Given the description of an element on the screen output the (x, y) to click on. 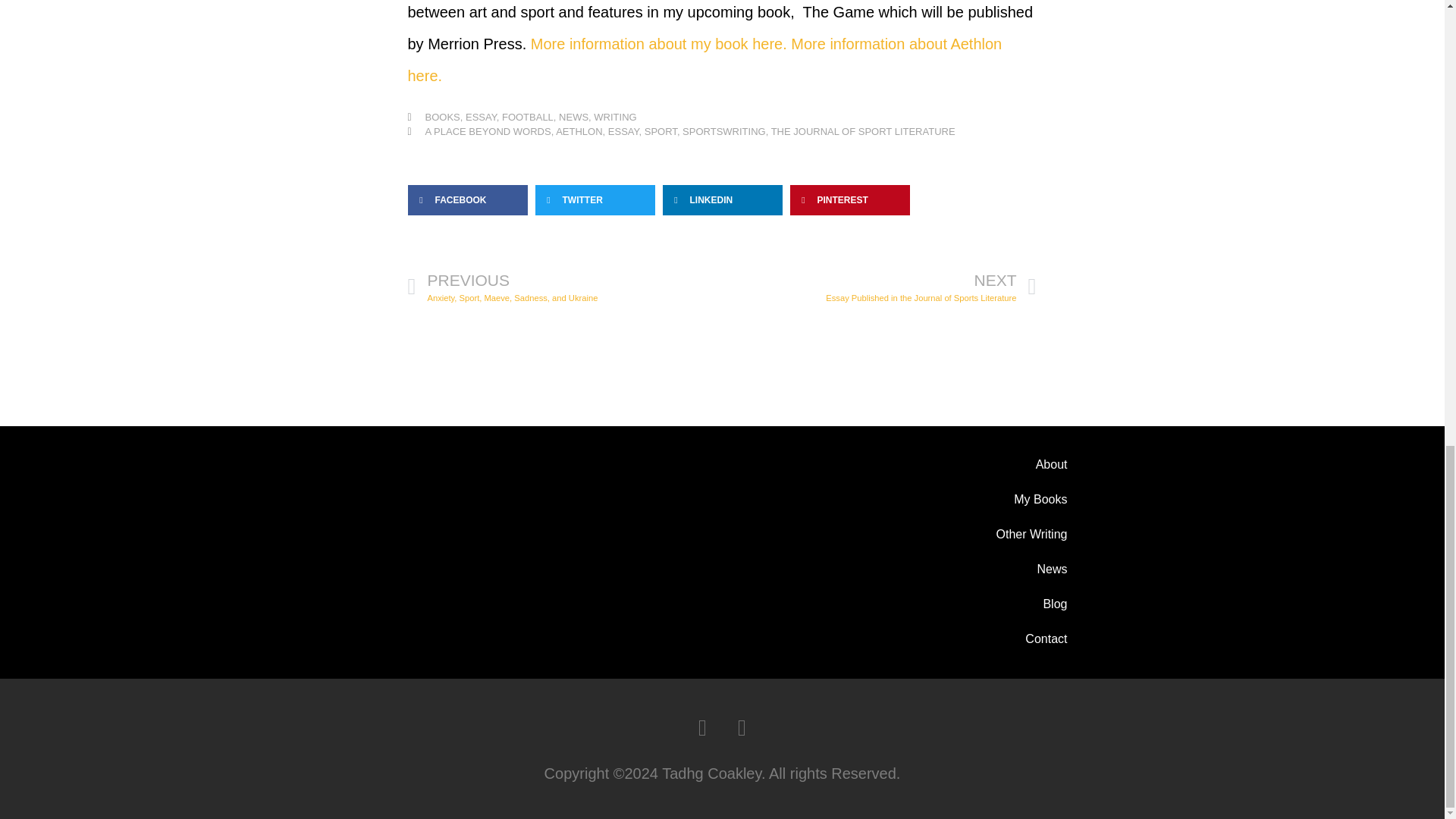
A PLACE BEYOND WORDS (487, 131)
SPORTSWRITING (723, 131)
BOOKS (442, 116)
SPORT (661, 131)
WRITING (615, 116)
ESSAY (879, 286)
About (623, 131)
THE JOURNAL OF SPORT LITERATURE (963, 464)
More information about Aethlon here.  (863, 131)
More information about my book here. (705, 60)
News (659, 44)
Contact (963, 569)
Blog (963, 638)
Other Writing (963, 604)
